Given the description of an element on the screen output the (x, y) to click on. 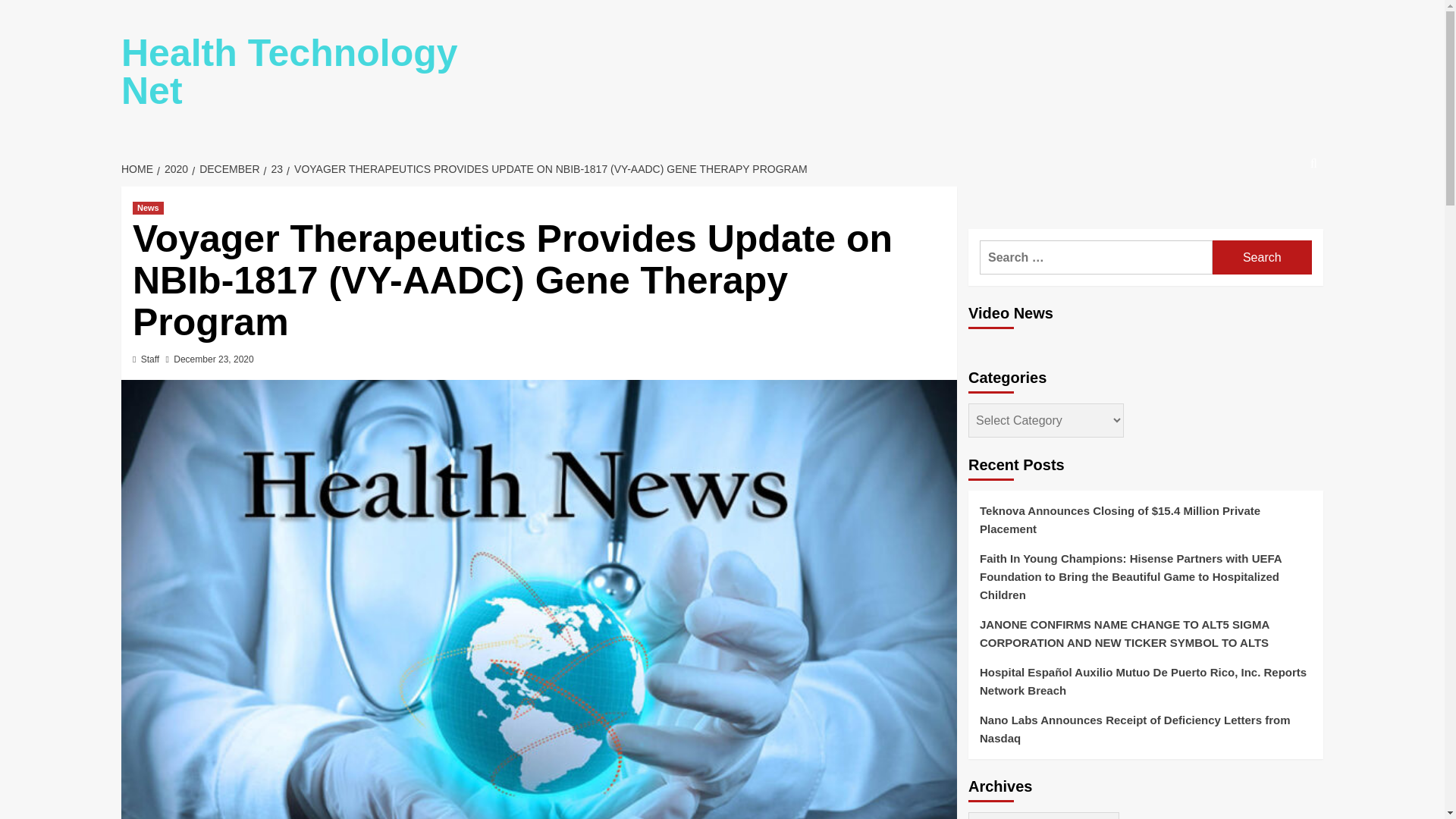
23 (274, 168)
Health Technology Net (289, 71)
Search (1261, 257)
2020 (174, 168)
Search (1261, 257)
DECEMBER (227, 168)
Staff (149, 358)
Search (1278, 209)
December 23, 2020 (213, 358)
News (147, 207)
